Given the description of an element on the screen output the (x, y) to click on. 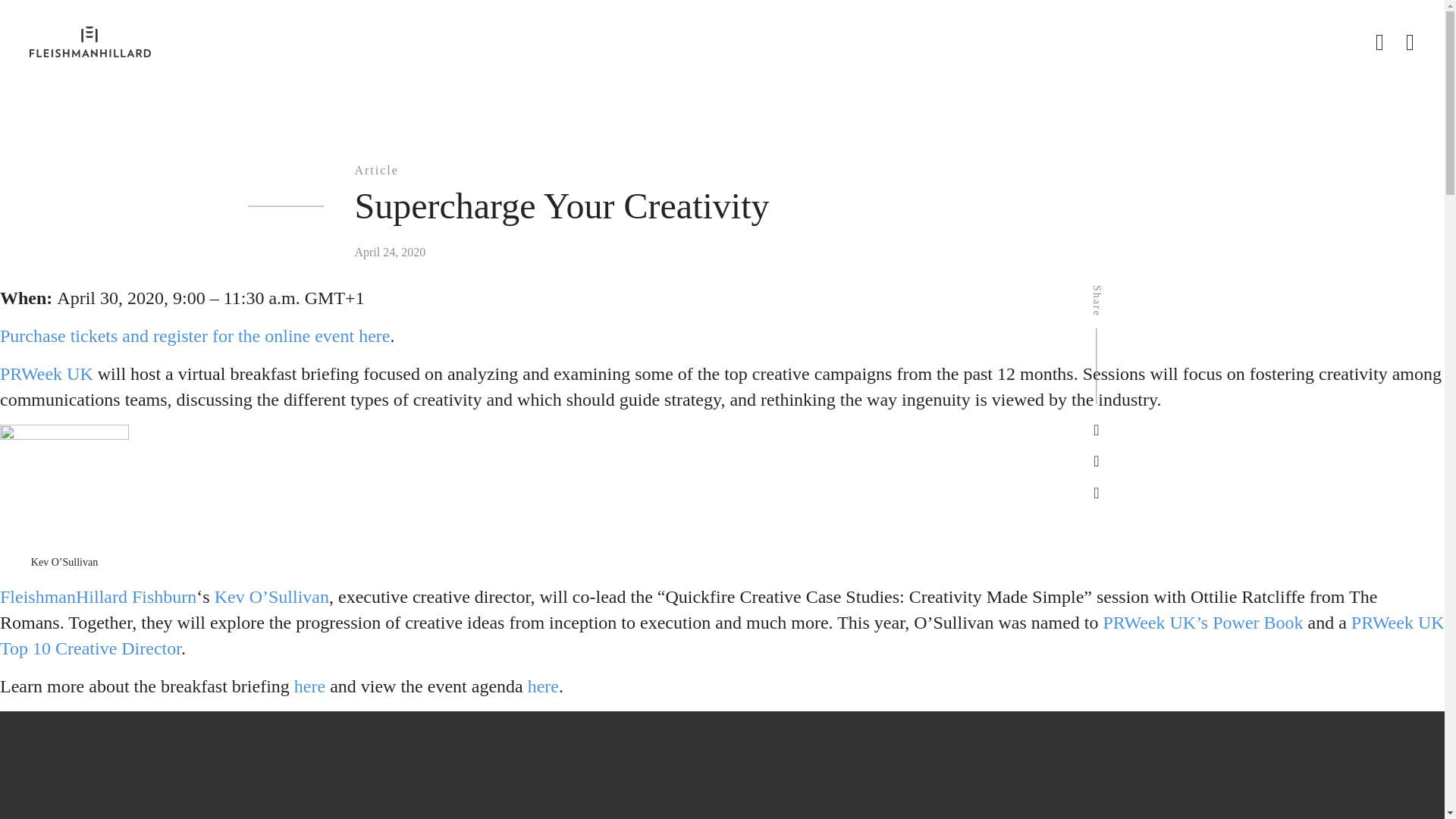
PRWeek UK (46, 373)
here (309, 686)
FleishmanHillard Fishburn (98, 596)
Purchase tickets and register for the online event here (195, 335)
Home (293, 24)
Supercharge Your Creativity (506, 24)
here (543, 686)
